Given the description of an element on the screen output the (x, y) to click on. 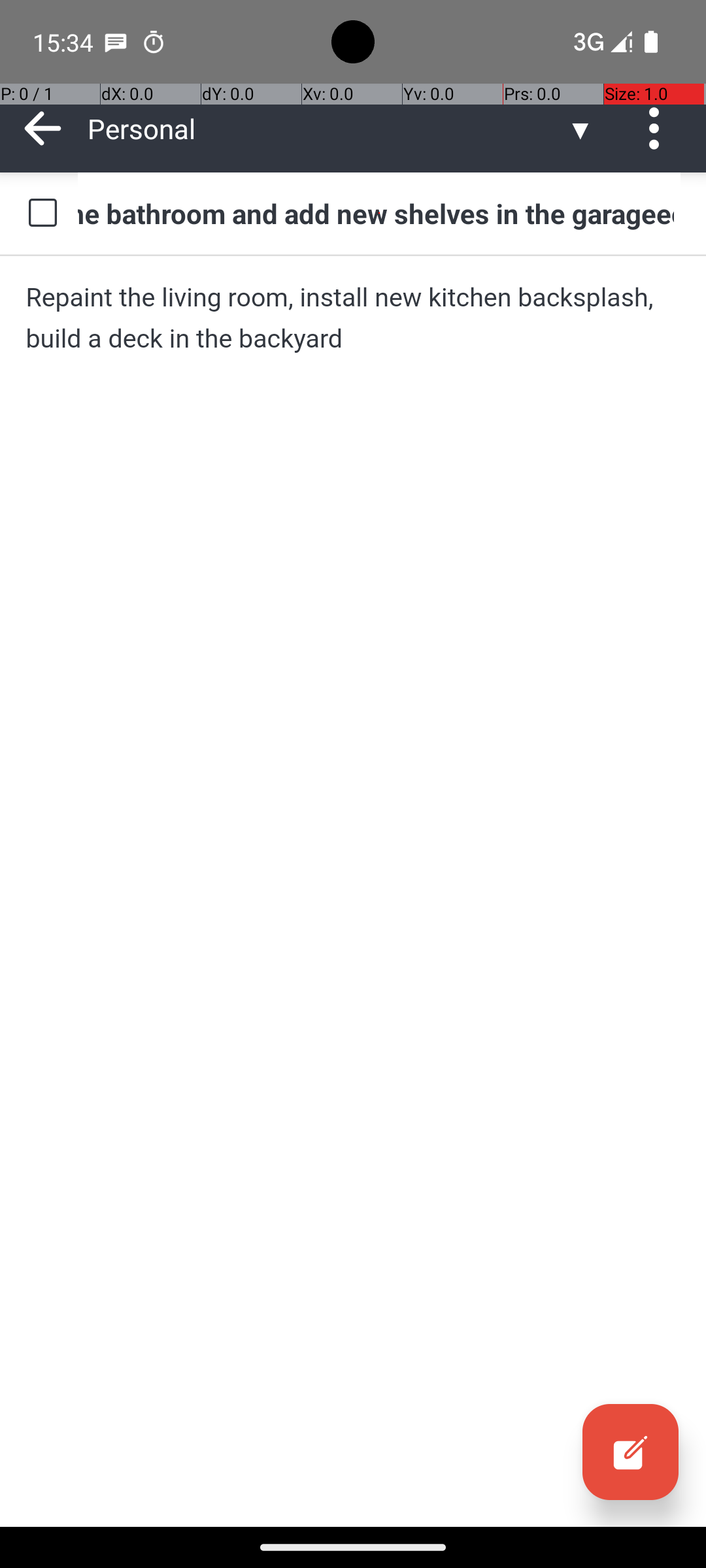
Home Improvement ProjRenovate the bathroom and add new shelves in the garageects Element type: android.widget.EditText (378, 213)
Repaint the living room, install new kitchen backsplash, build a deck in the backyard Element type: android.widget.TextView (352, 317)
